Given the description of an element on the screen output the (x, y) to click on. 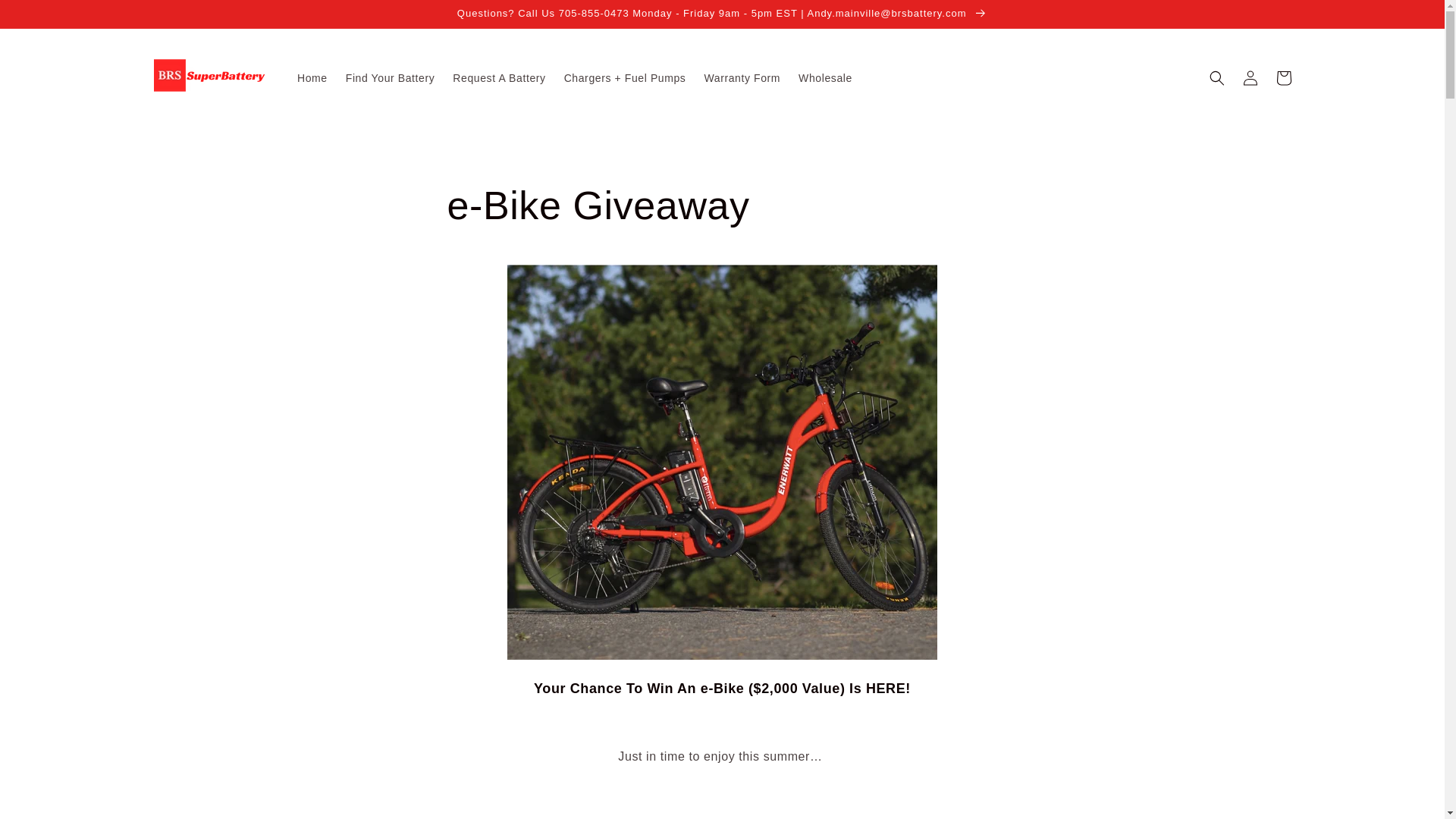
Wholesale (825, 78)
Skip to content (45, 16)
Log in (1249, 78)
Warranty Form (741, 78)
Request A Battery (499, 78)
Find Your Battery (390, 78)
Cart (1283, 78)
Home (312, 78)
